Given the description of an element on the screen output the (x, y) to click on. 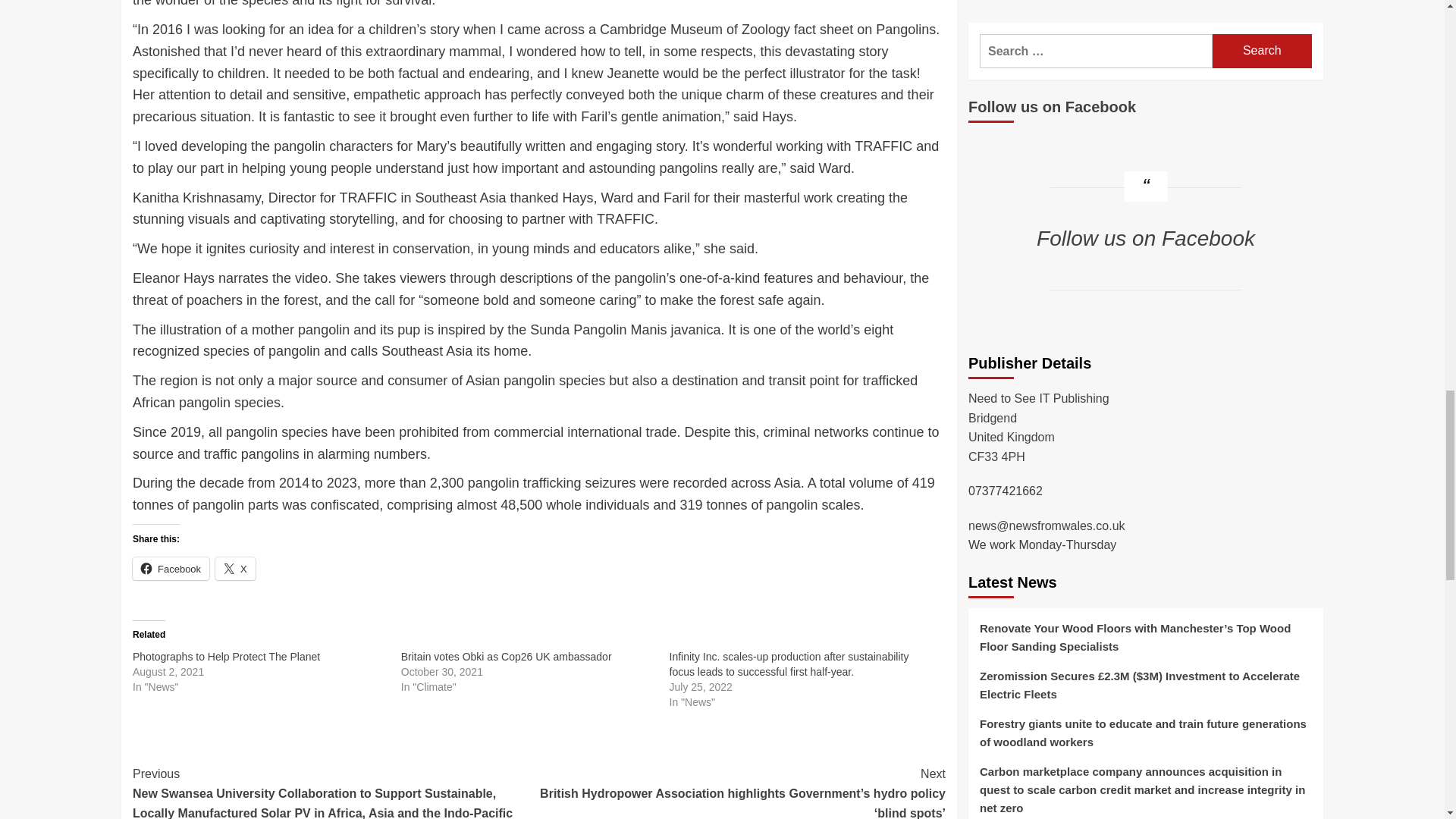
Britain votes Obki as Cop26 UK ambassador (506, 656)
Click to share on X (235, 568)
Britain votes Obki as Cop26 UK ambassador (506, 656)
X (235, 568)
Click to share on Facebook (170, 568)
Photographs to Help Protect The Planet (226, 656)
Photographs to Help Protect The Planet (226, 656)
Facebook (170, 568)
